Given the description of an element on the screen output the (x, y) to click on. 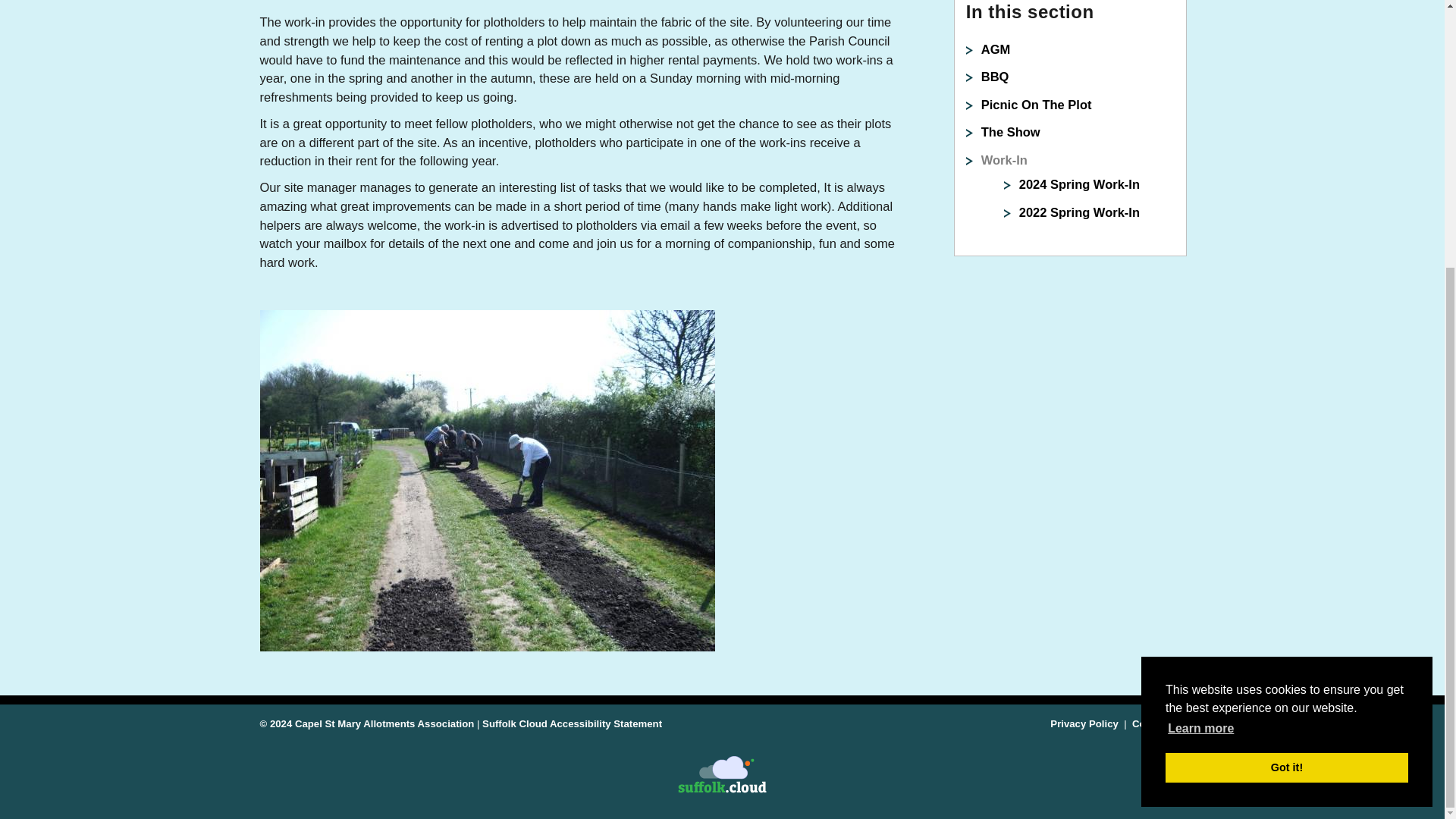
AGM (995, 49)
Learn more (1201, 339)
2022 Spring Work-In (1079, 212)
BBQ (995, 76)
Work-In (1004, 160)
The Show (1011, 131)
Picnic On The Plot (1036, 104)
2024 Spring Work-In (1079, 183)
Got it! (1286, 378)
